Given the description of an element on the screen output the (x, y) to click on. 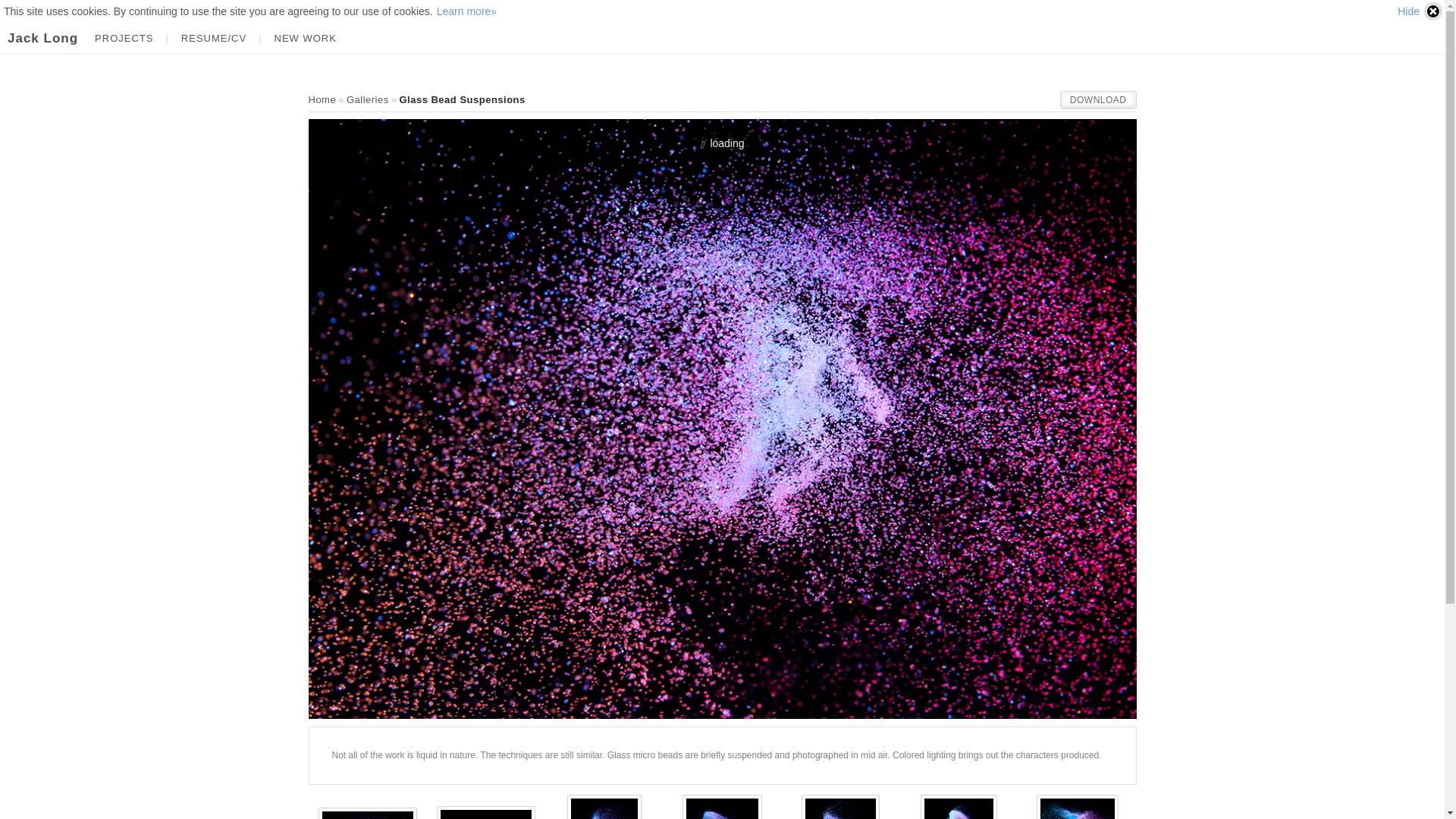
Home (321, 99)
Jack Long (42, 38)
Jack Long (42, 38)
Jack Long (321, 99)
NEW WORK (305, 38)
PROJECTS (123, 38)
Galleries (367, 99)
Hide (1419, 11)
